Given the description of an element on the screen output the (x, y) to click on. 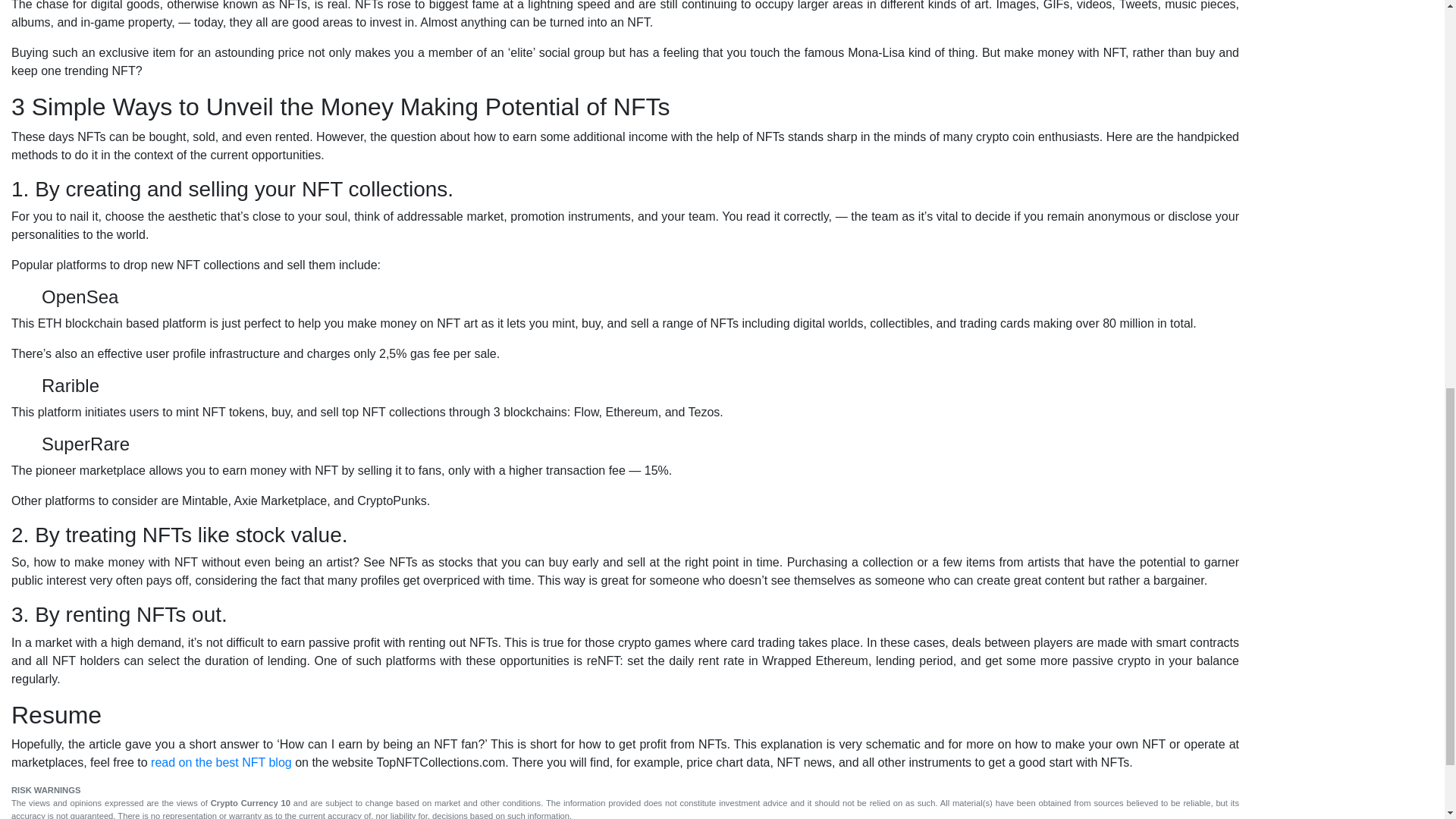
read on the best NFT blog (221, 762)
